Given the description of an element on the screen output the (x, y) to click on. 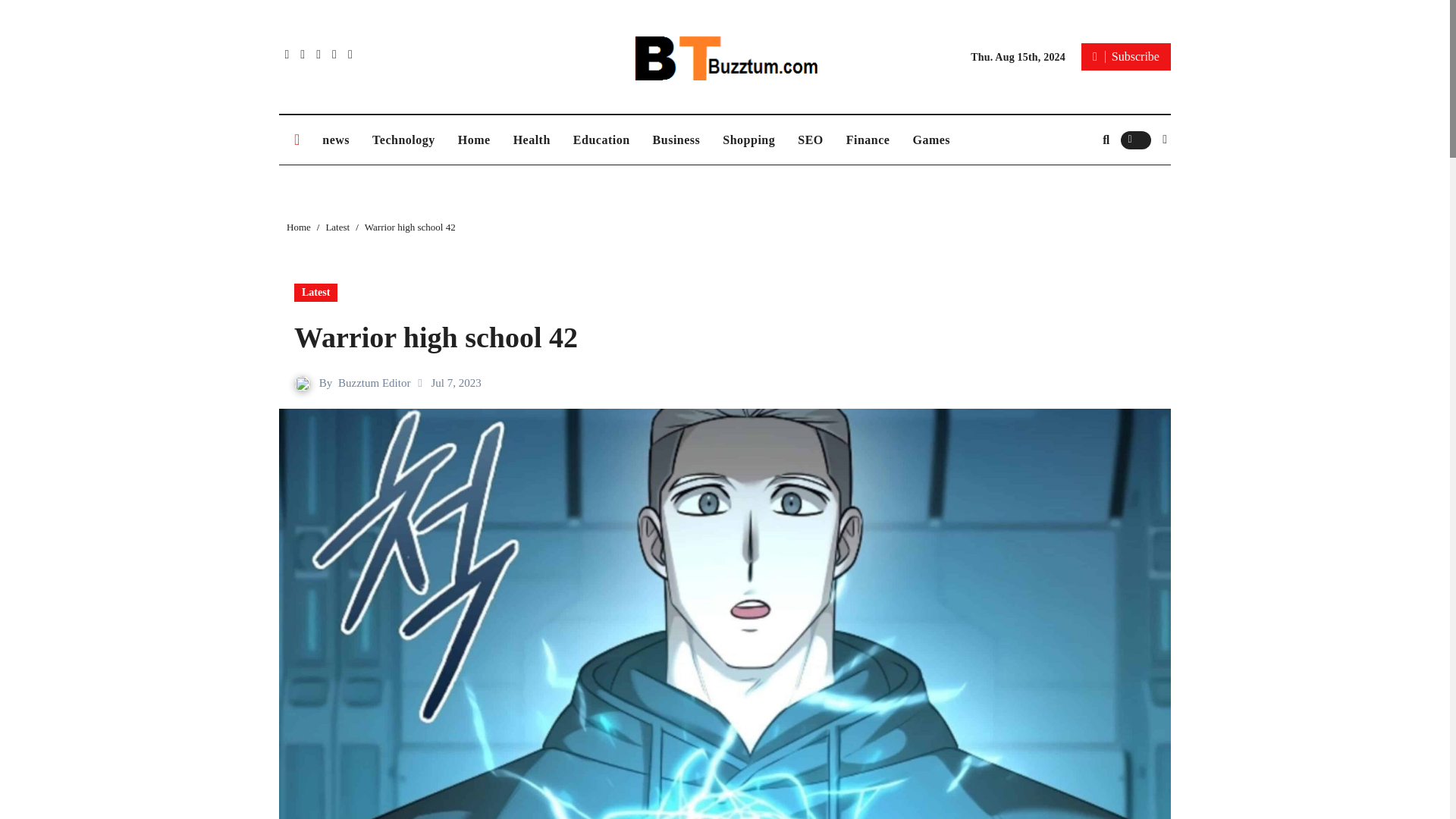
Latest (336, 226)
Home (474, 139)
Business (676, 139)
Shopping (748, 139)
news (336, 139)
Buzztum Editor (373, 382)
SEO (810, 139)
Health (532, 139)
news (336, 139)
Games (930, 139)
